Given the description of an element on the screen output the (x, y) to click on. 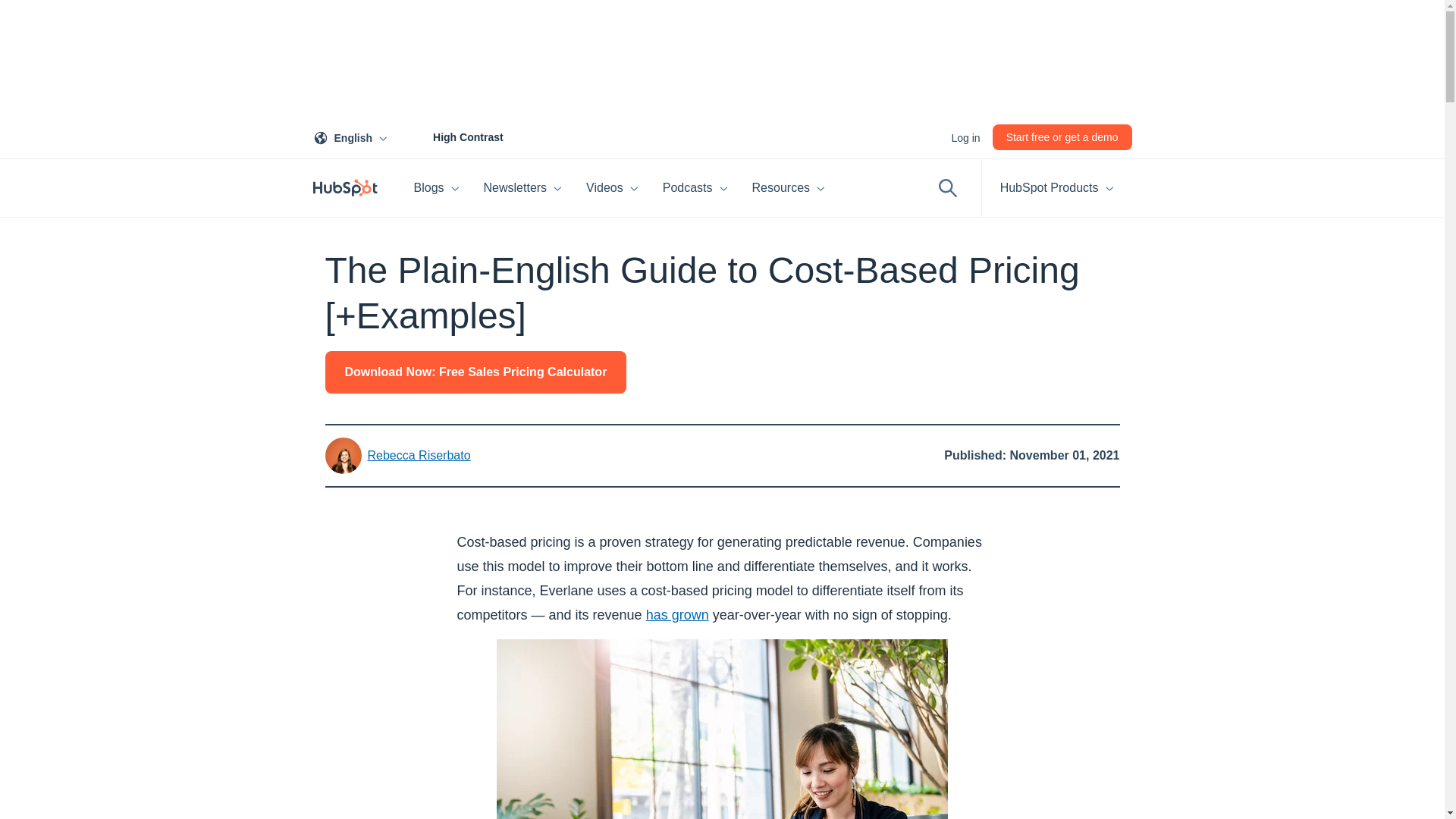
Log in (964, 137)
High Contrast (450, 137)
Videos (611, 187)
Blogs (436, 187)
Start free or get a demo (1062, 136)
Newsletters (353, 136)
